Given the description of an element on the screen output the (x, y) to click on. 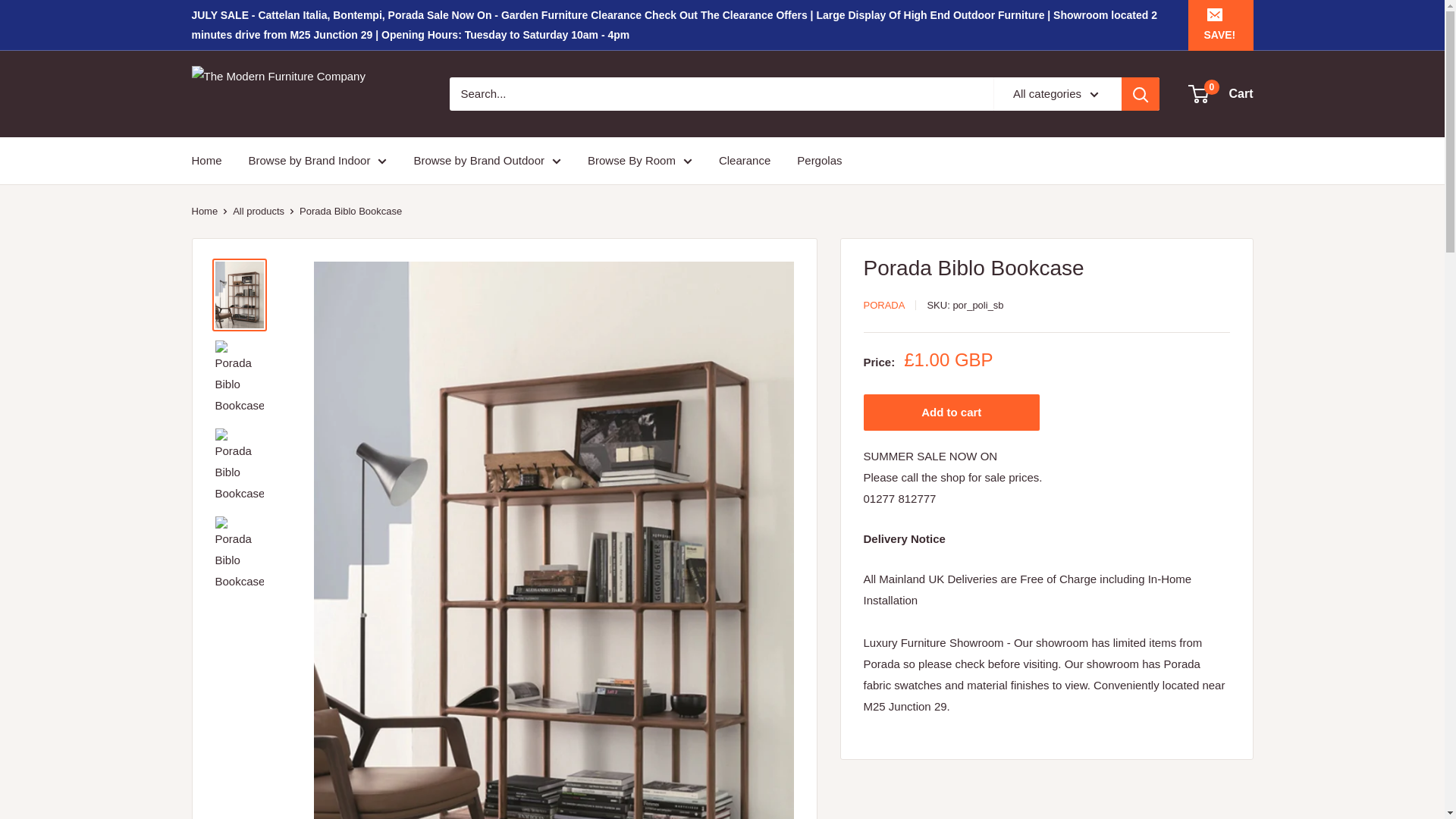
SAVE! (1220, 24)
